Given the description of an element on the screen output the (x, y) to click on. 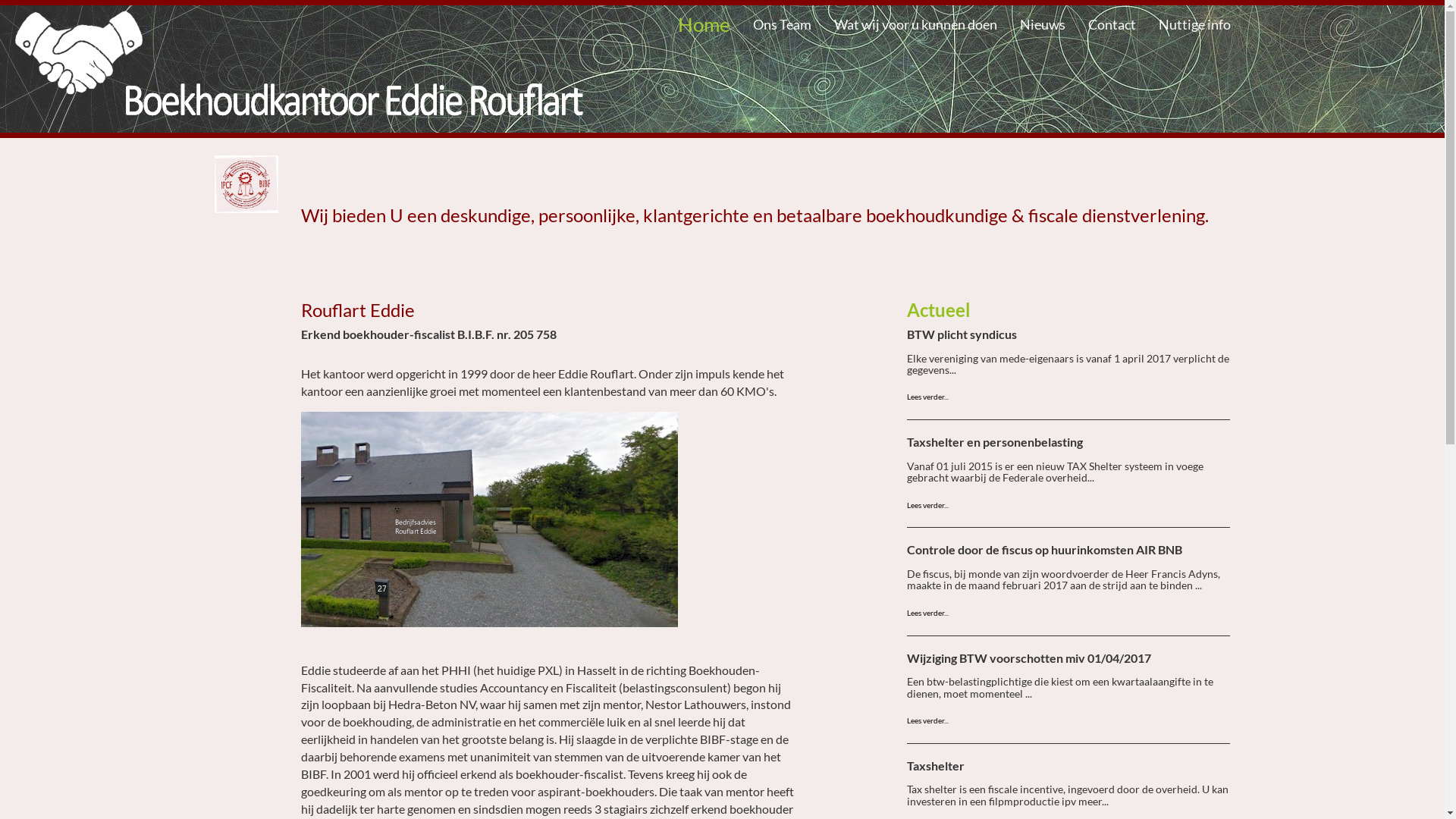
bureau Element type: hover (489, 519)
Lees verder... Element type: text (927, 504)
Contact Element type: text (1111, 24)
Ons Team Element type: text (781, 24)
Lees verder... Element type: text (927, 719)
Home Element type: text (702, 24)
Nieuws Element type: text (1042, 24)
Lees verder... Element type: text (927, 612)
Lees verder... Element type: text (927, 396)
Wat wij voor u kunnen doen Element type: text (914, 24)
Nuttige info Element type: text (1193, 24)
